Given the description of an element on the screen output the (x, y) to click on. 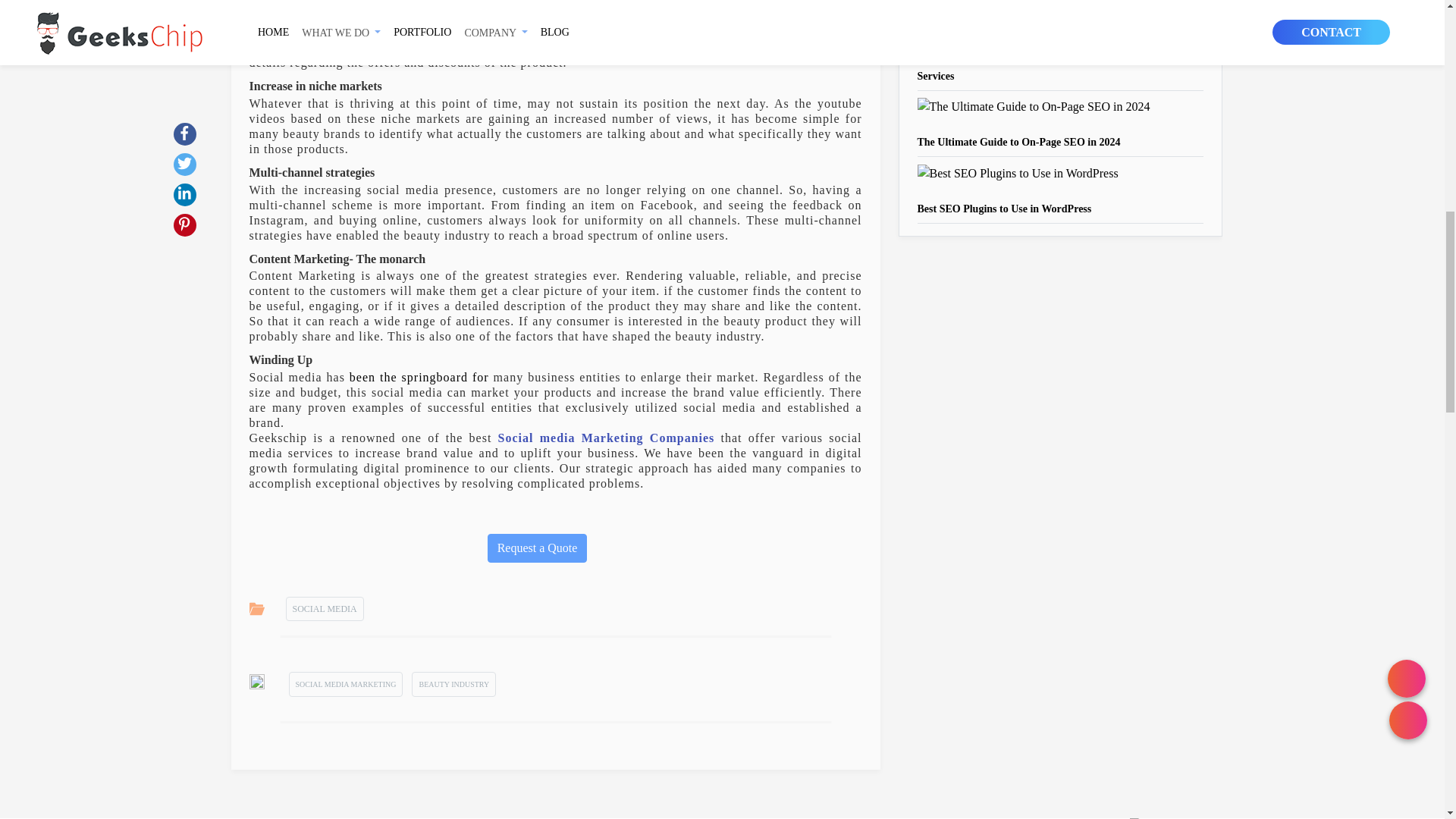
Social media Marketing Companies (605, 437)
The Ultimate Guide to On-Page SEO in 2024 (1019, 142)
Request a Quote (537, 547)
Reputation Management (627, 4)
Transform Your Website With Advanced Technical SEO Services (1044, 67)
best social media marketing companies  (605, 437)
